Given the description of an element on the screen output the (x, y) to click on. 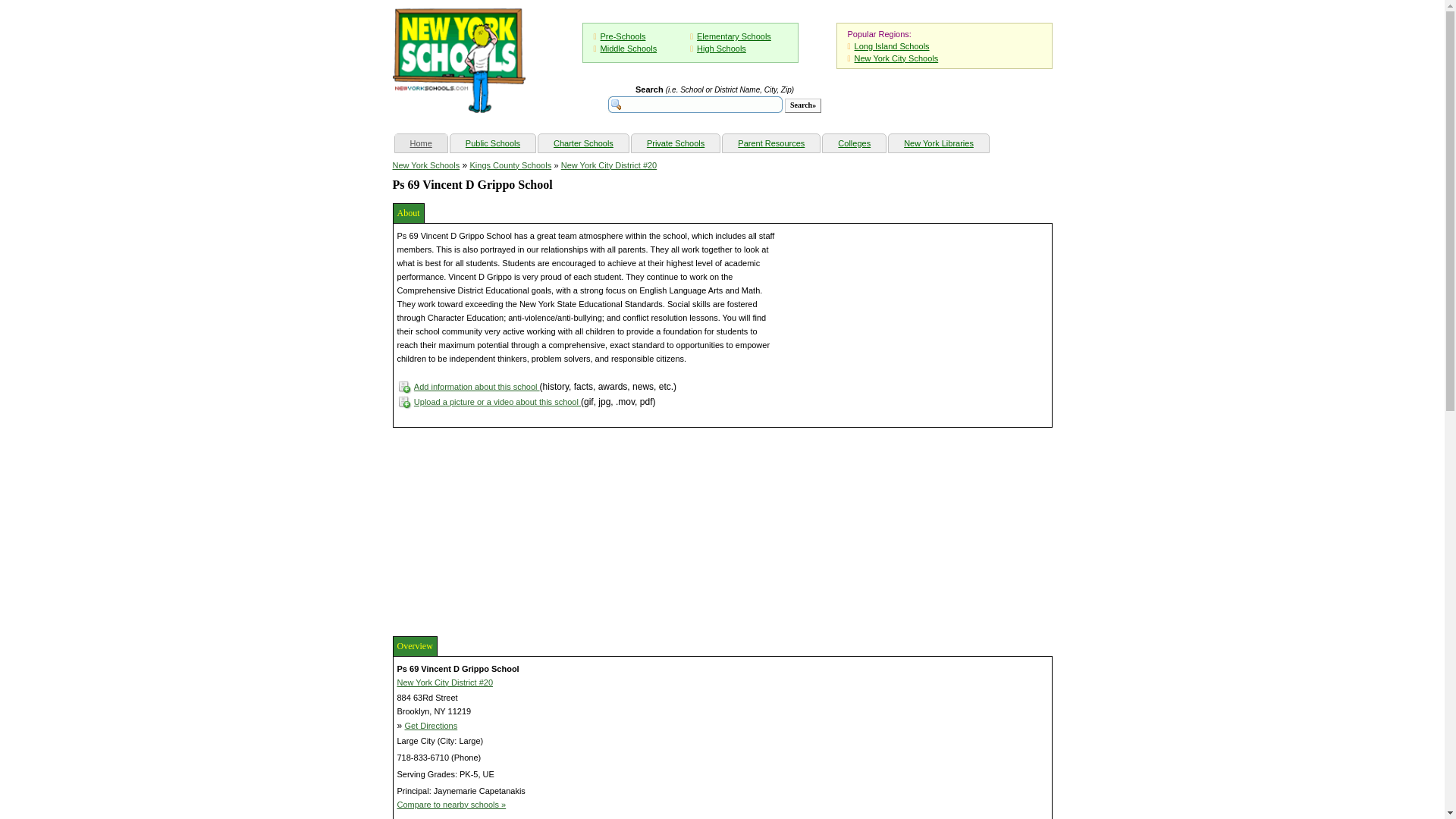
Charter Schools (583, 143)
Parent Resources (770, 143)
Get Directions (431, 725)
New York City Schools (896, 58)
New York Libraries (938, 143)
New York Schools (426, 164)
Middle Schools (628, 48)
High Schools (721, 48)
Add information about this school (476, 386)
Pre-Schools (622, 35)
Colleges (853, 143)
Long Island Schools (892, 45)
Advertisement (506, 529)
Private Schools (675, 143)
View Large Map (945, 818)
